Given the description of an element on the screen output the (x, y) to click on. 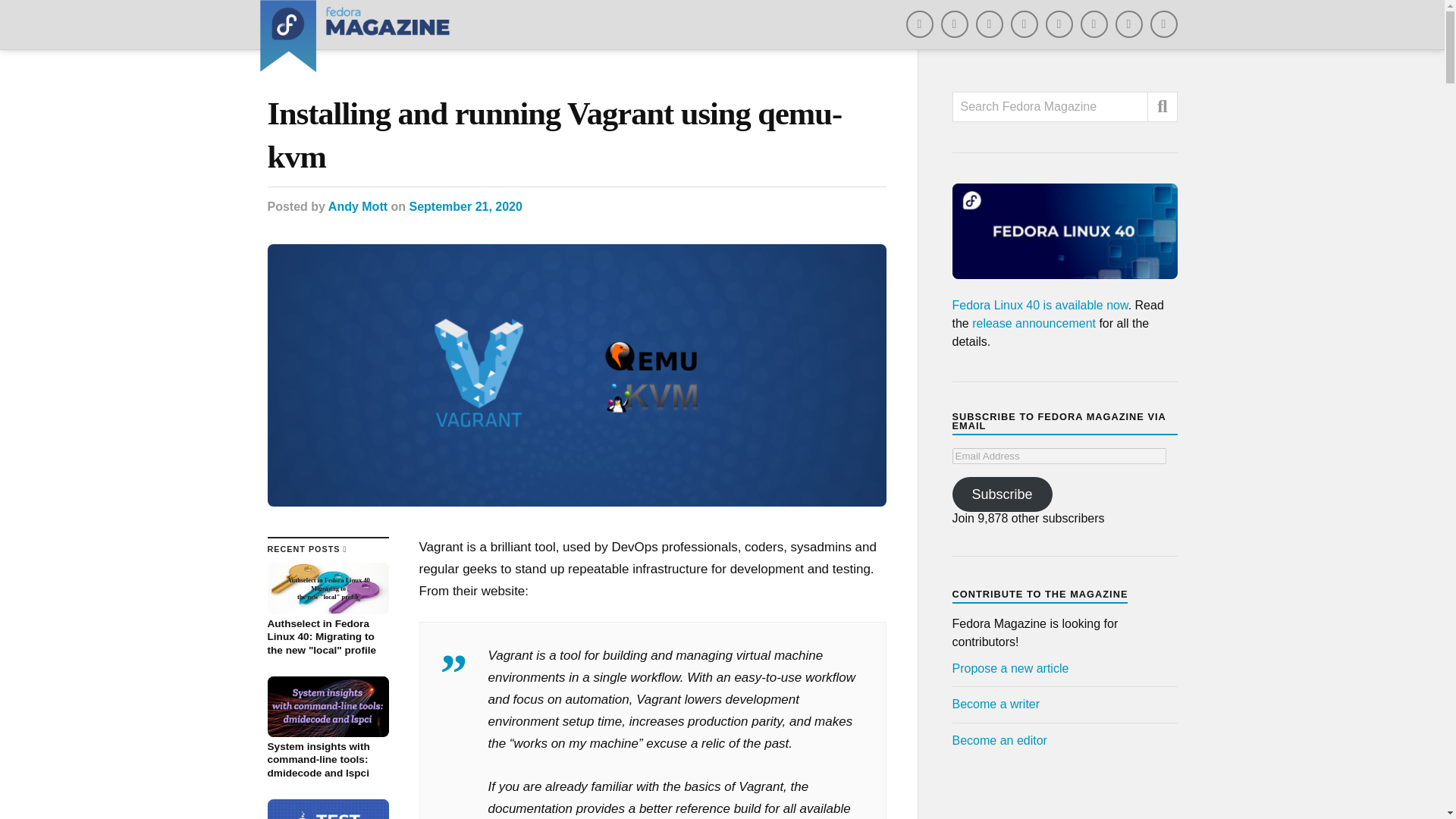
Contribute at the FreeIPA HSM Test Week (327, 809)
Posts by Andy Mott (358, 205)
September 21, 2020 (465, 205)
Andy Mott (358, 205)
System insights with command-line tools: dmidecode and lspci (327, 728)
